Given the description of an element on the screen output the (x, y) to click on. 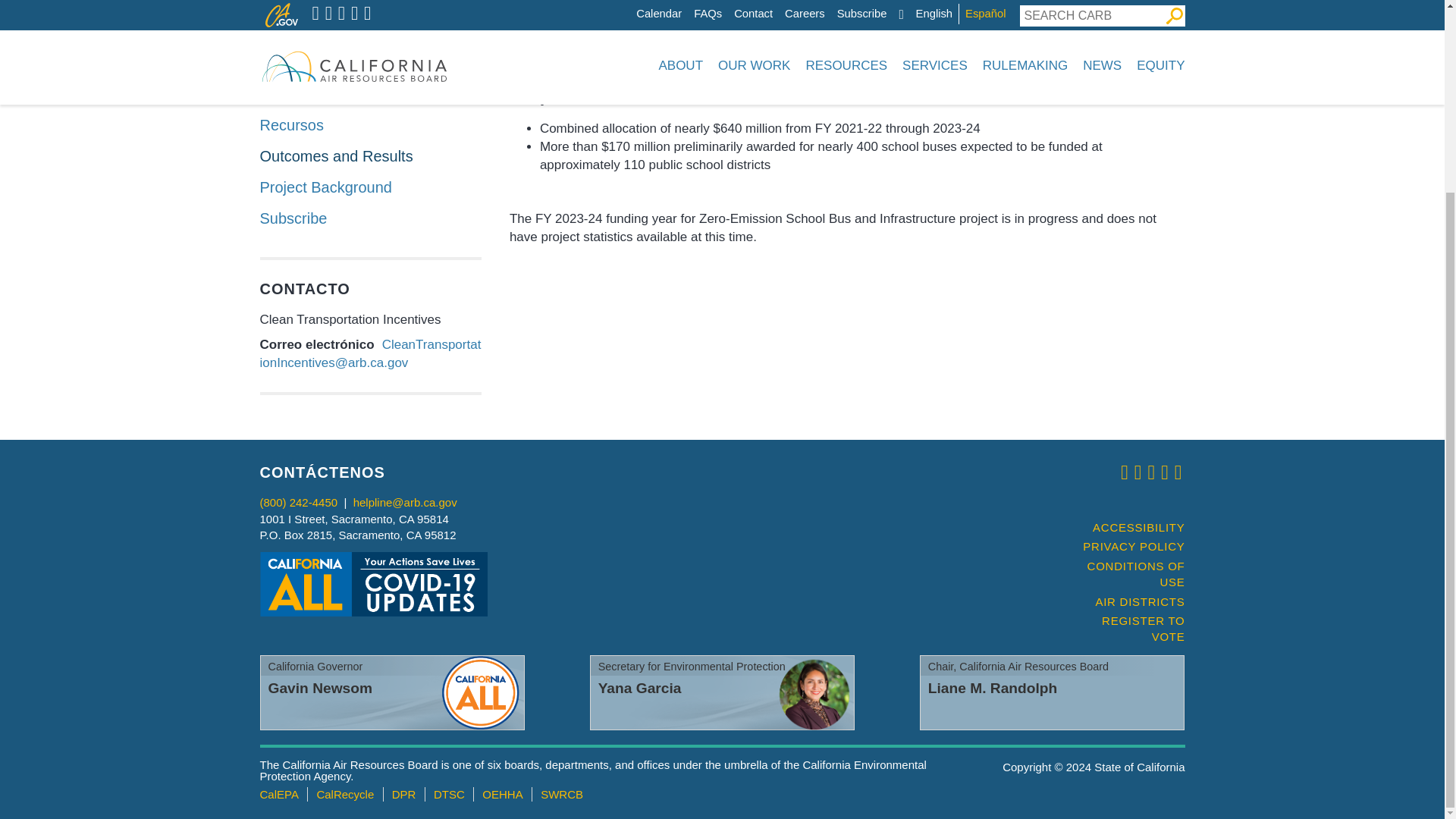
California Environmental Protection Agency (278, 794)
California online voter registration (1127, 628)
